Given the description of an element on the screen output the (x, y) to click on. 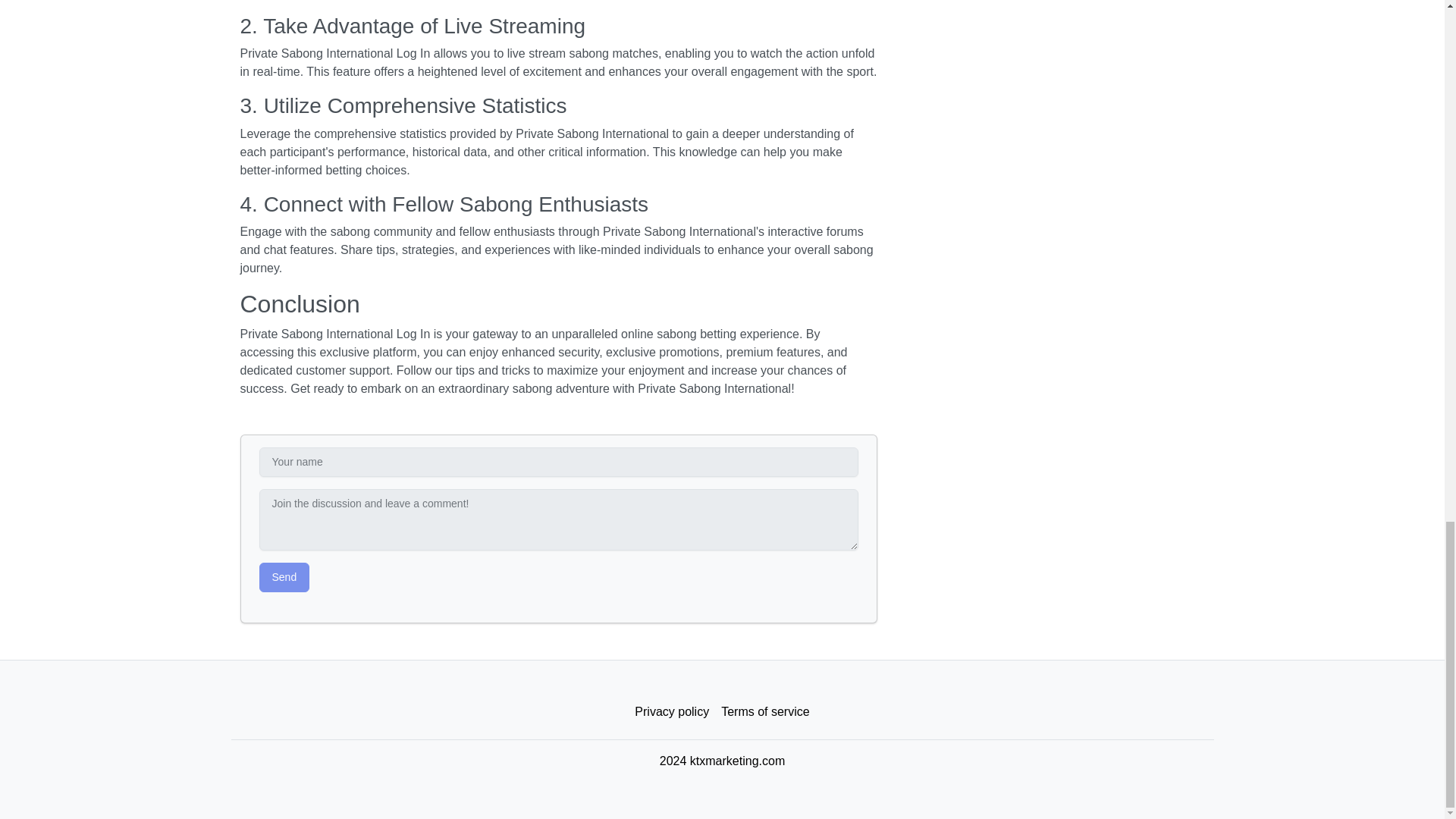
Send (284, 577)
Send (284, 577)
